Given the description of an element on the screen output the (x, y) to click on. 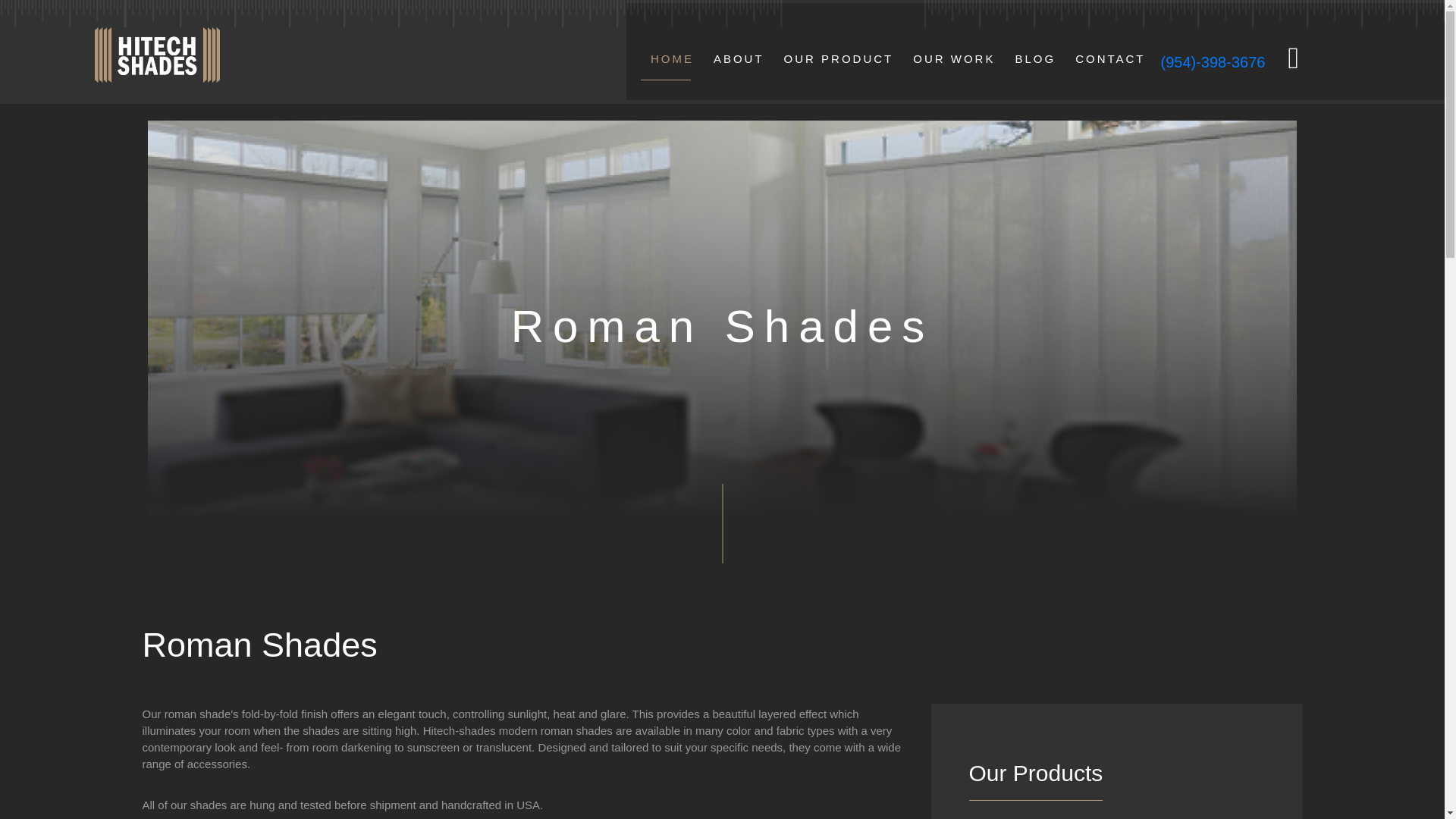
Best Roman Shades (525, 644)
OUR PRODUCT (838, 64)
Roman Shades (721, 326)
